Given the description of an element on the screen output the (x, y) to click on. 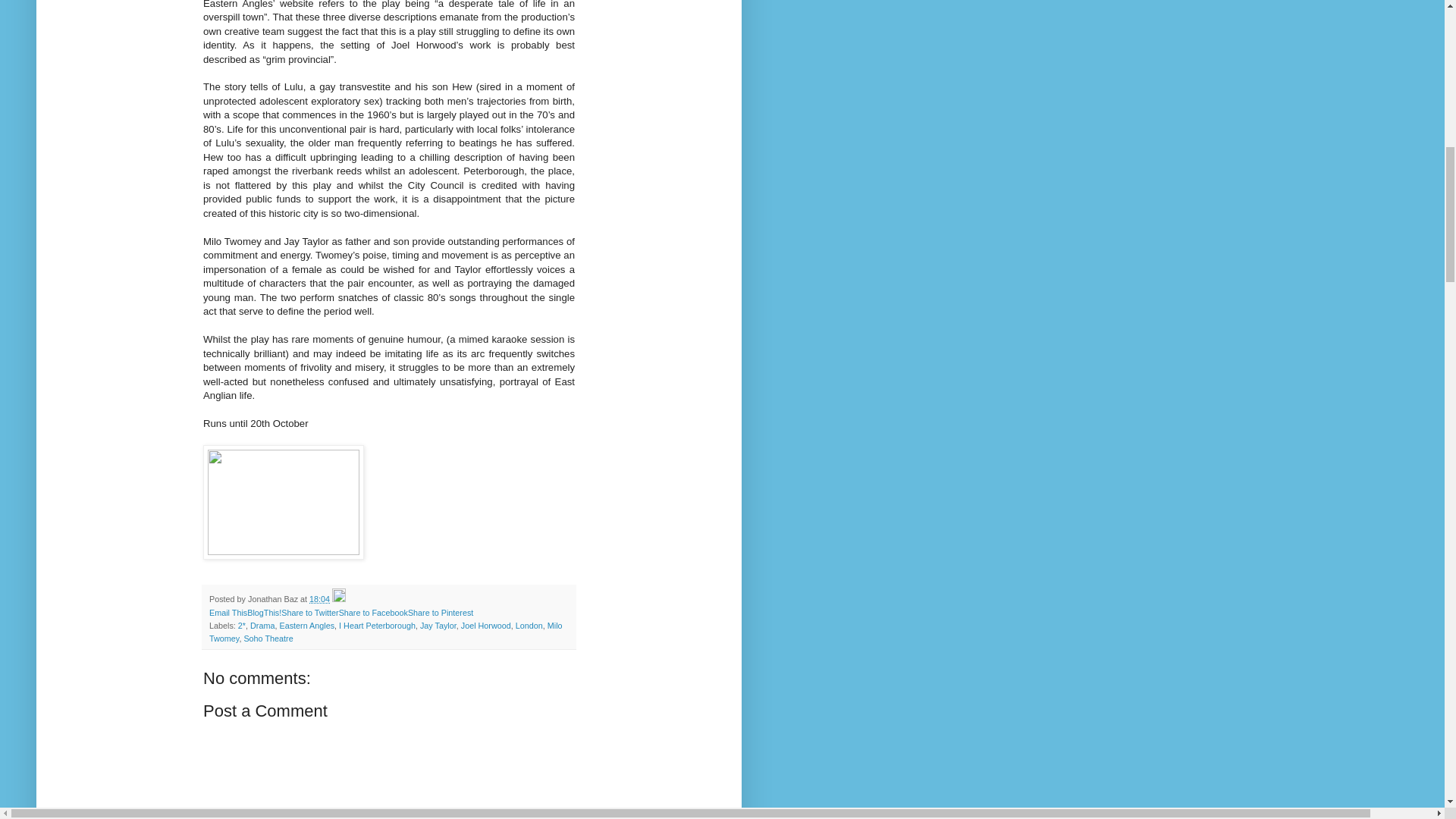
Share to Twitter (309, 612)
Milo Twomey (385, 631)
Share to Facebook (373, 612)
BlogThis! (264, 612)
Drama (262, 624)
Share to Pinterest (440, 612)
Edit Post (338, 598)
Share to Twitter (309, 612)
Eastern Angles (306, 624)
London (529, 624)
18:04 (319, 598)
Joel Horwood (486, 624)
Jay Taylor (438, 624)
Share to Pinterest (440, 612)
BlogThis! (264, 612)
